Given the description of an element on the screen output the (x, y) to click on. 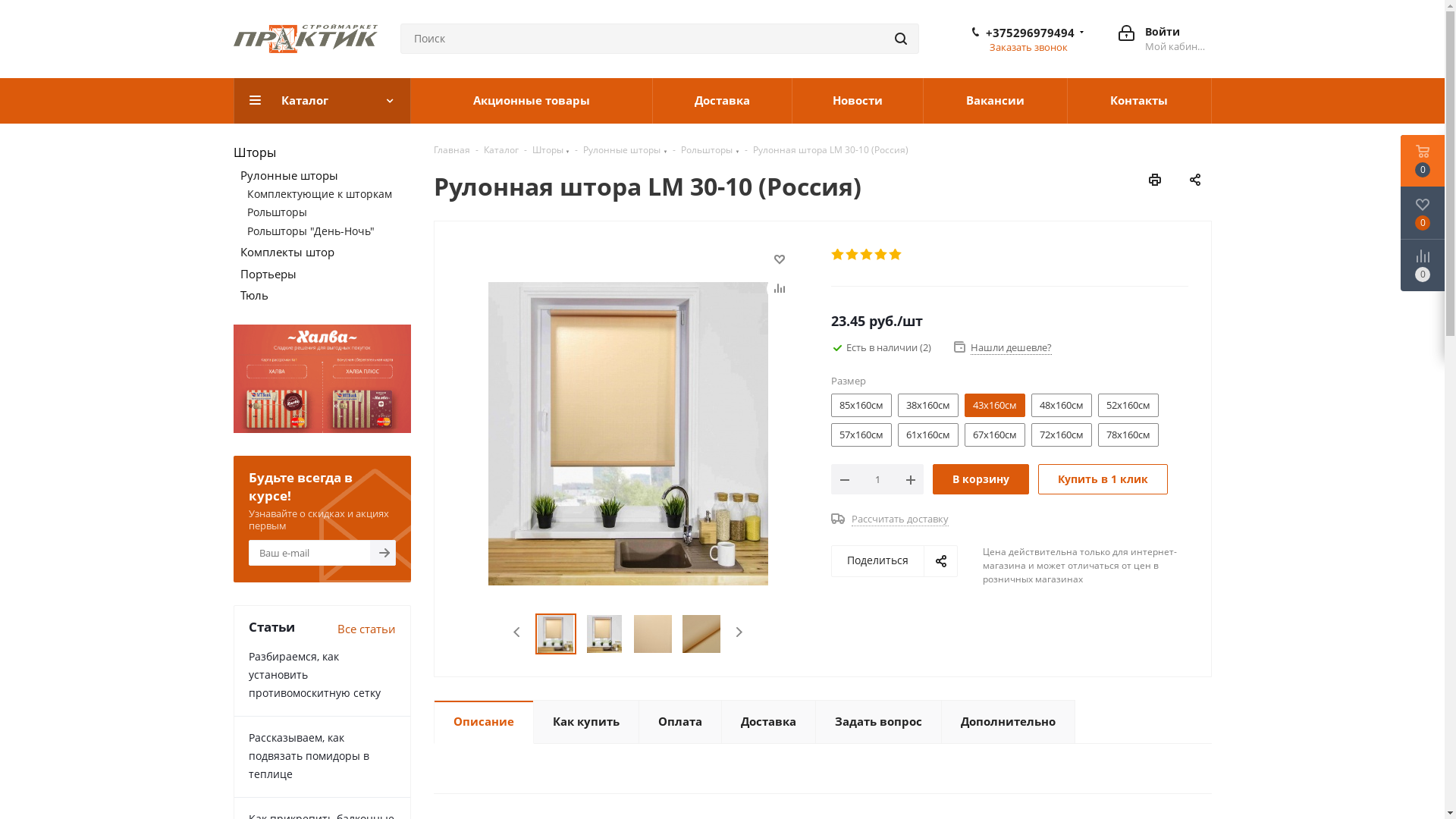
Previous Element type: text (517, 631)
3 Element type: hover (866, 254)
1 Element type: hover (838, 254)
+375296979494 Element type: text (1029, 32)
Next Element type: text (738, 631)
4 Element type: hover (880, 254)
5 Element type: hover (895, 254)
2 Element type: hover (851, 254)
